Given the description of an element on the screen output the (x, y) to click on. 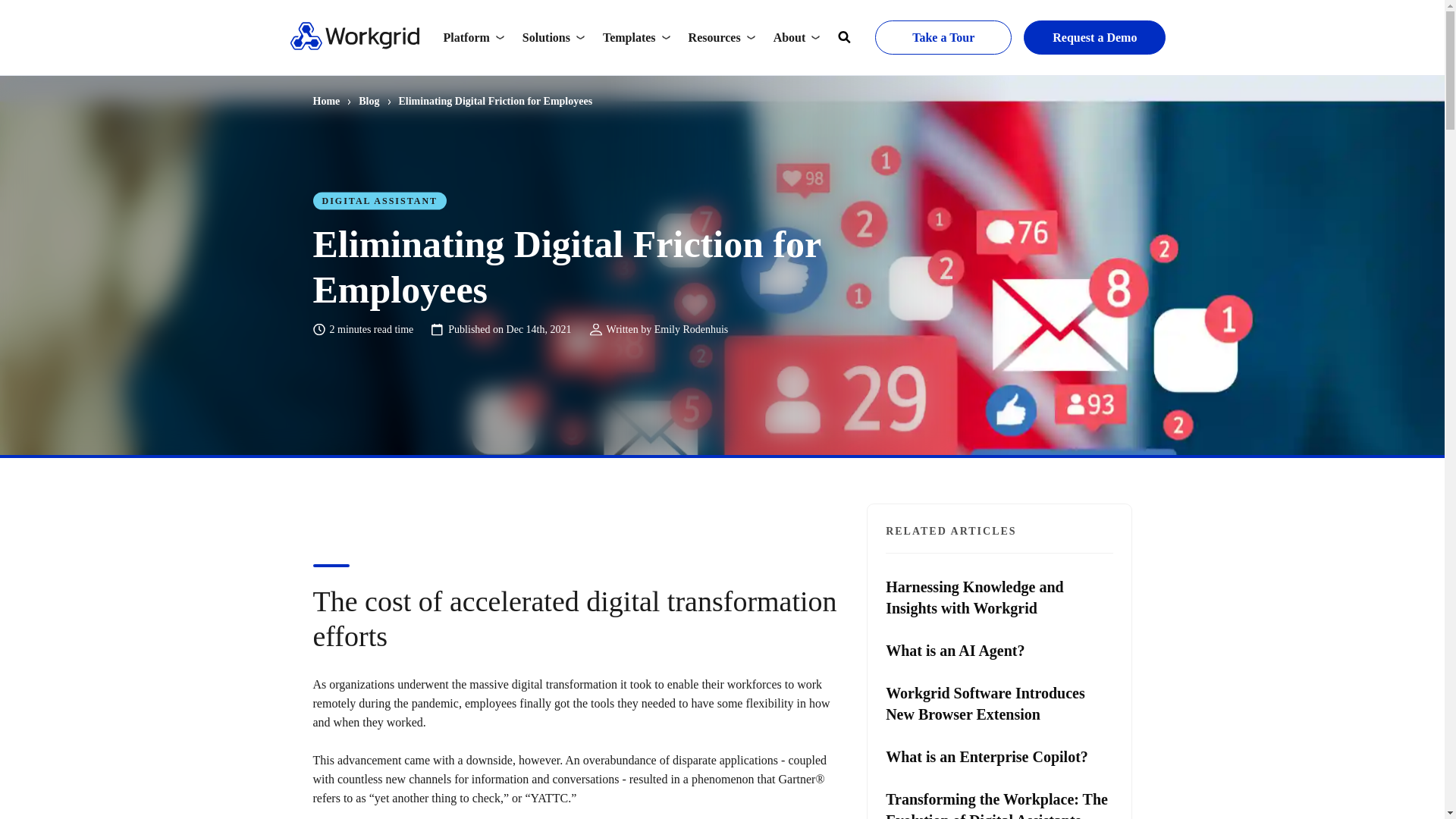
Templates (636, 36)
Platform (472, 36)
Solutions (553, 36)
